Given the description of an element on the screen output the (x, y) to click on. 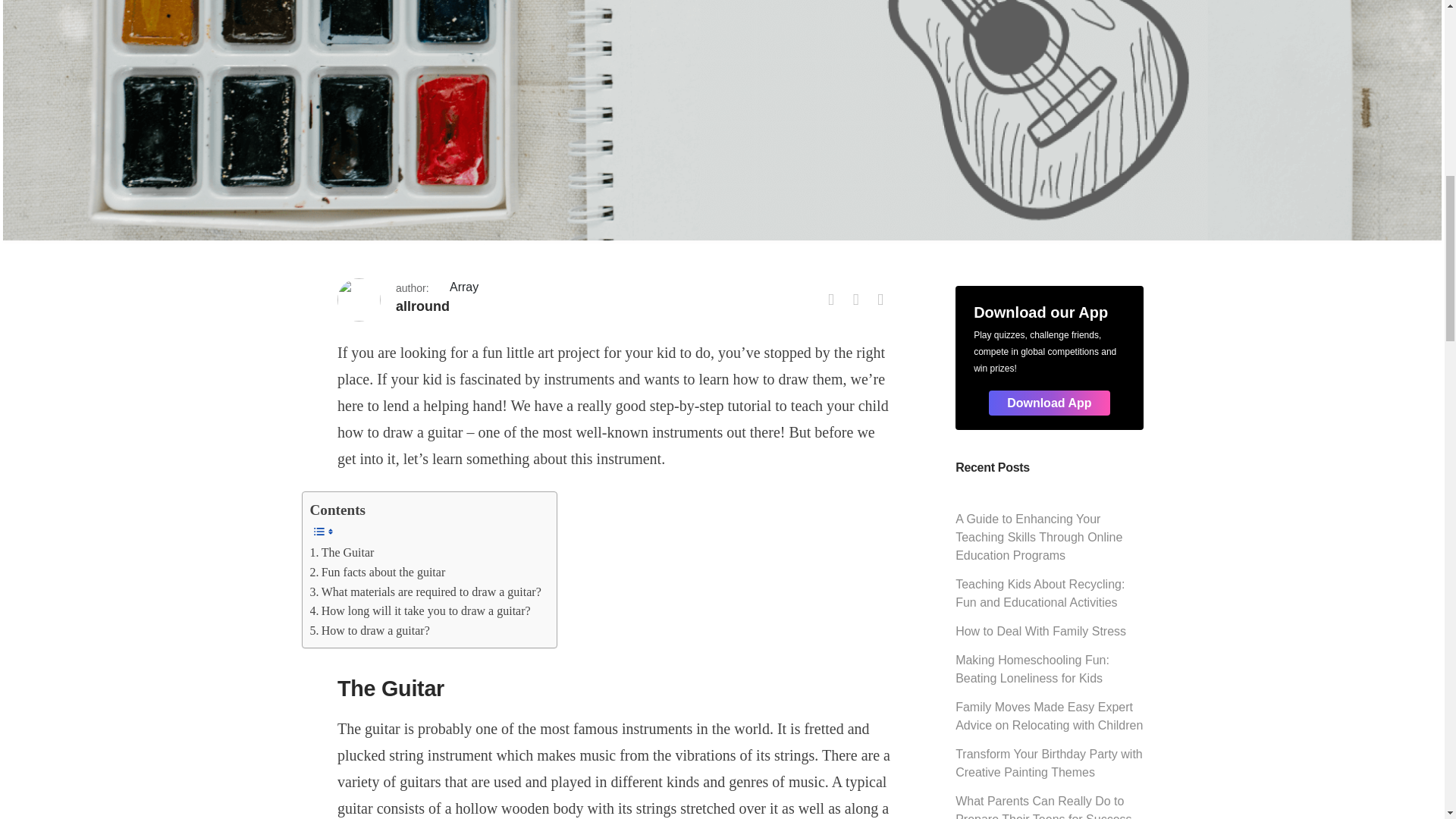
Fun facts about the guitar (376, 572)
allround (422, 305)
Fun facts about the guitar (376, 572)
The Guitar (341, 552)
How to draw a guitar? (368, 630)
How long will it take you to draw a guitar? (418, 610)
What materials are required to draw a guitar? (424, 591)
What materials are required to draw a guitar? (424, 591)
The Guitar (341, 552)
Posts by allround (422, 305)
